Given the description of an element on the screen output the (x, y) to click on. 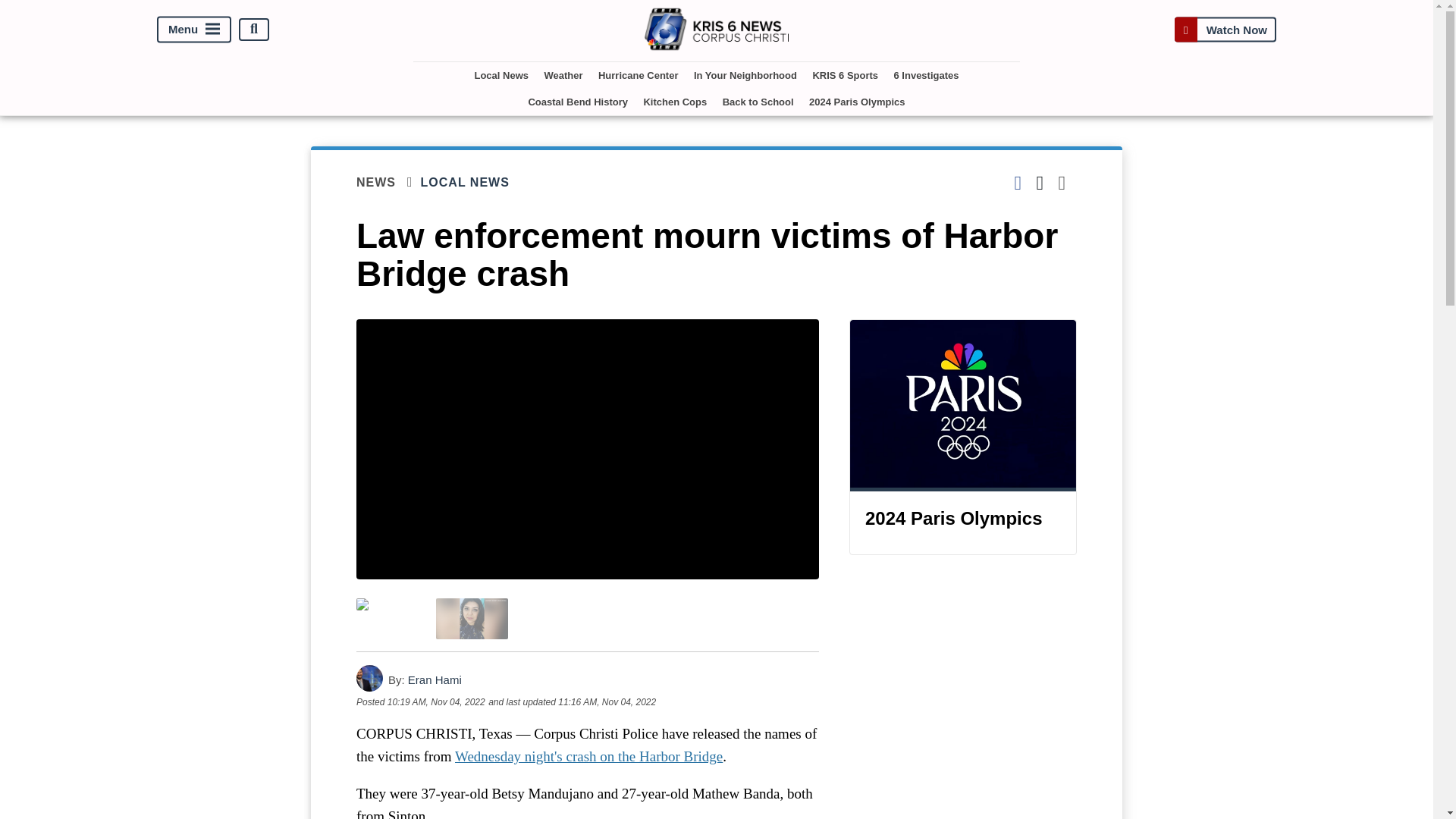
Watch Now (1224, 29)
Menu (194, 28)
